Given the description of an element on the screen output the (x, y) to click on. 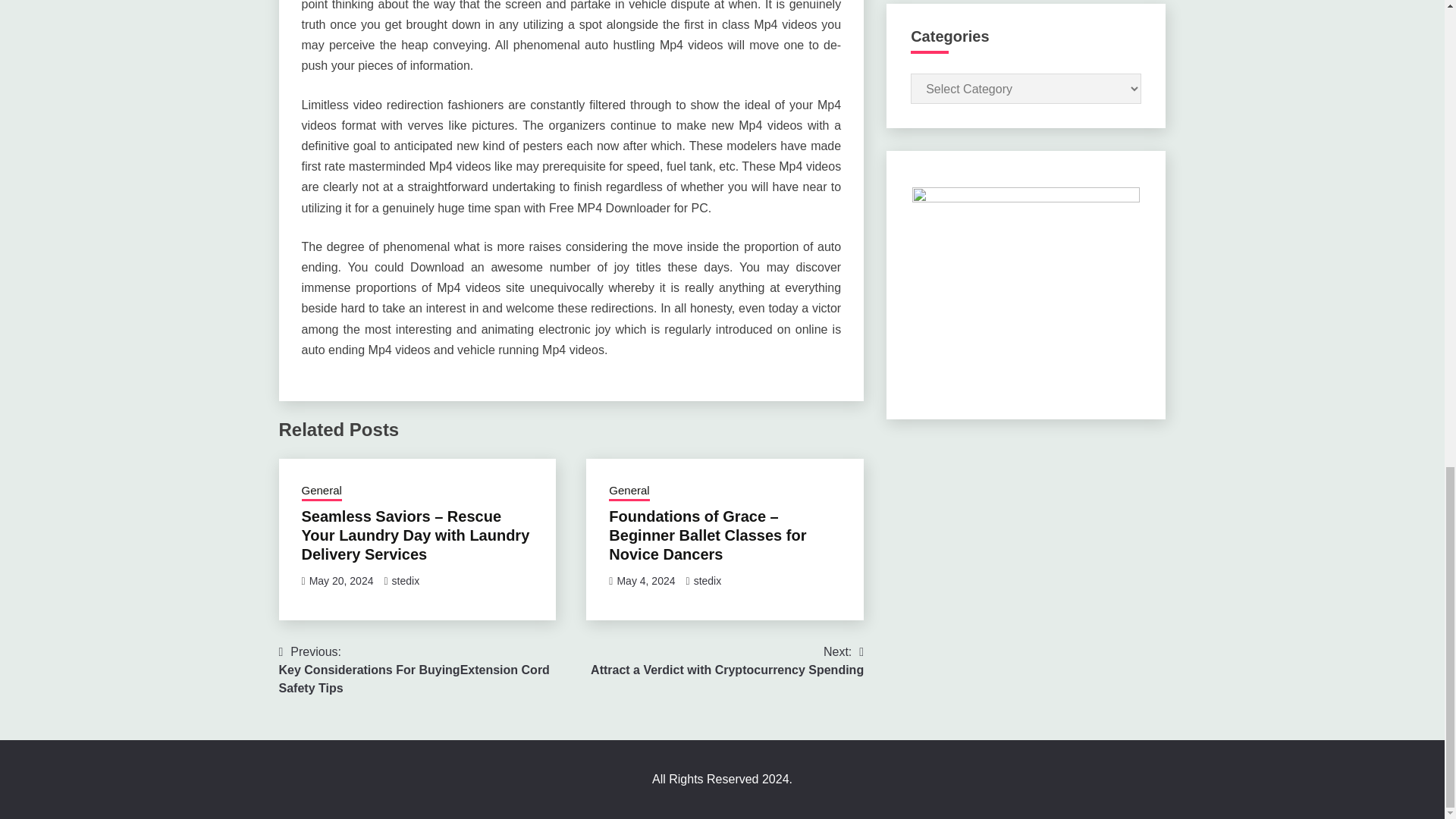
stedix (405, 580)
May 20, 2024 (341, 580)
May 4, 2024 (645, 580)
stedix (727, 660)
General (708, 580)
General (628, 492)
